Given the description of an element on the screen output the (x, y) to click on. 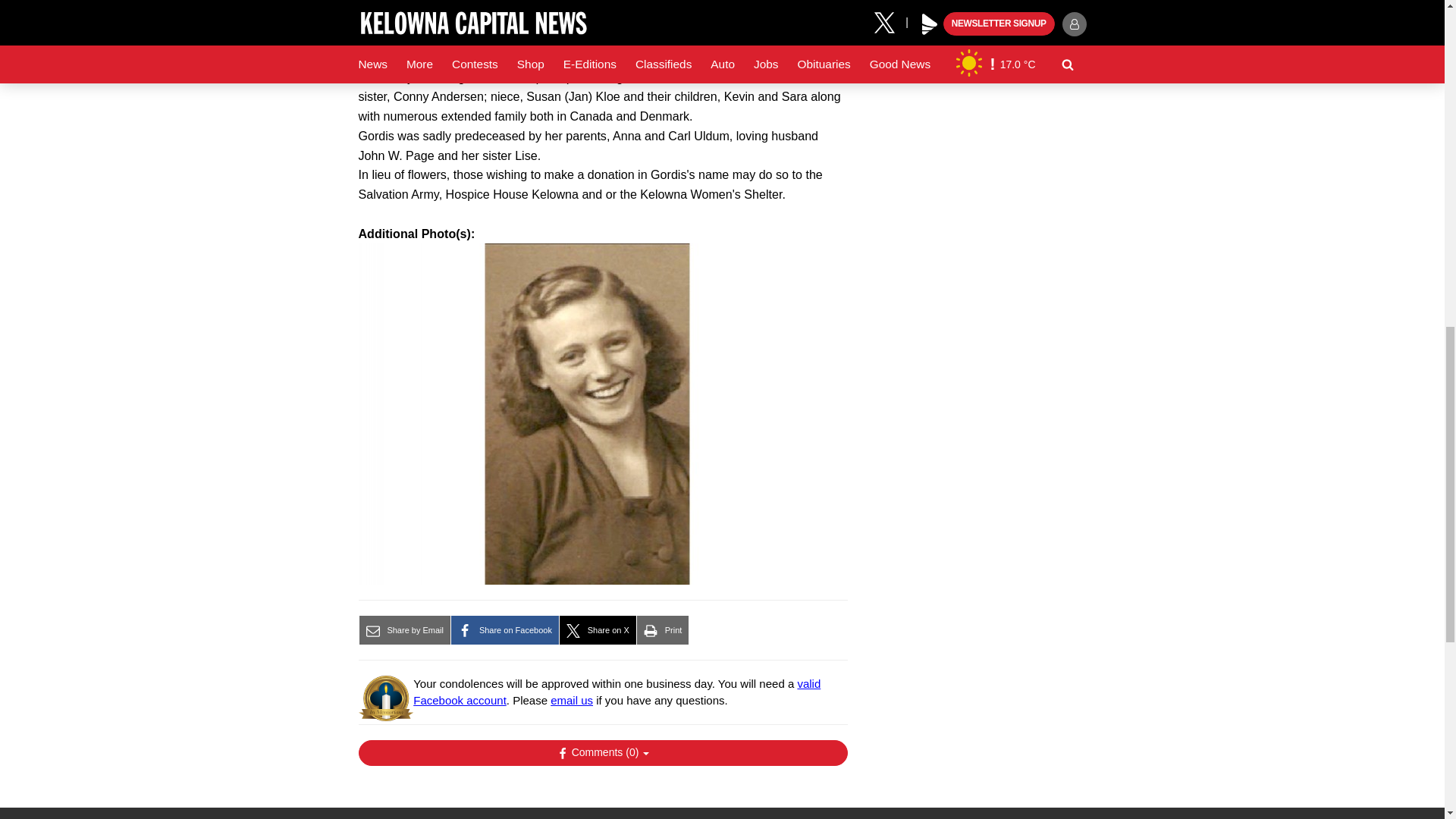
Show Comments (602, 752)
